Given the description of an element on the screen output the (x, y) to click on. 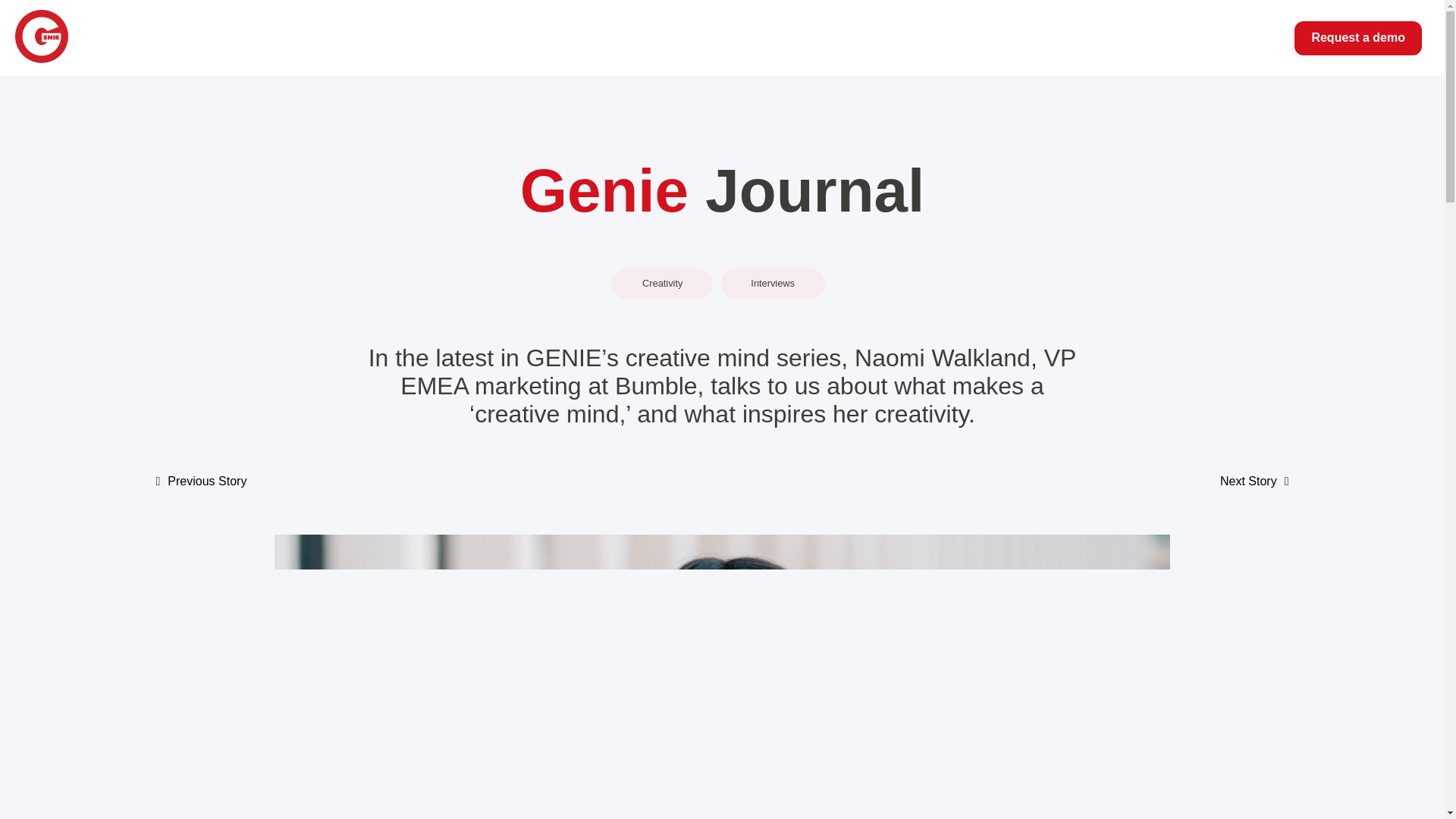
Request a demo (1358, 38)
Previous Story (206, 481)
Request a demo (1358, 37)
Next Story (1248, 481)
